Given the description of an element on the screen output the (x, y) to click on. 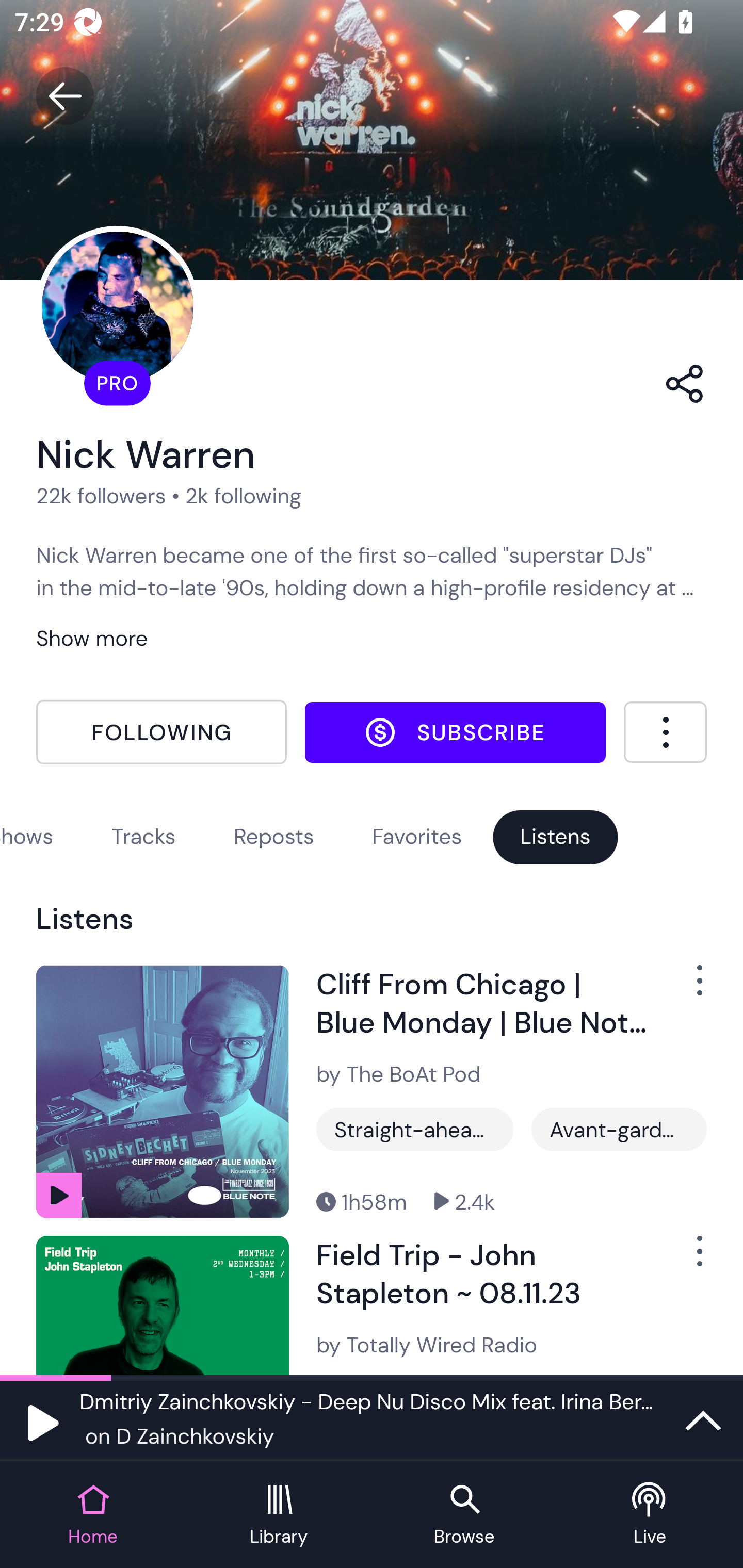
22k followers (101, 495)
2k following (243, 495)
Following FOLLOWING (161, 732)
More Menu (665, 731)
Subscribe SUBSCRIBE (454, 732)
Shows (26, 836)
Tracks (143, 836)
Reposts (274, 836)
Favorites (417, 836)
Listens (555, 836)
Show Options Menu Button (688, 987)
Straight-ahead Jazz (414, 1129)
Avant-garde Jazz (618, 1129)
Show Options Menu Button (688, 1258)
Home tab Home (92, 1515)
Library tab Library (278, 1515)
Browse tab Browse (464, 1515)
Live tab Live (650, 1515)
